Given the description of an element on the screen output the (x, y) to click on. 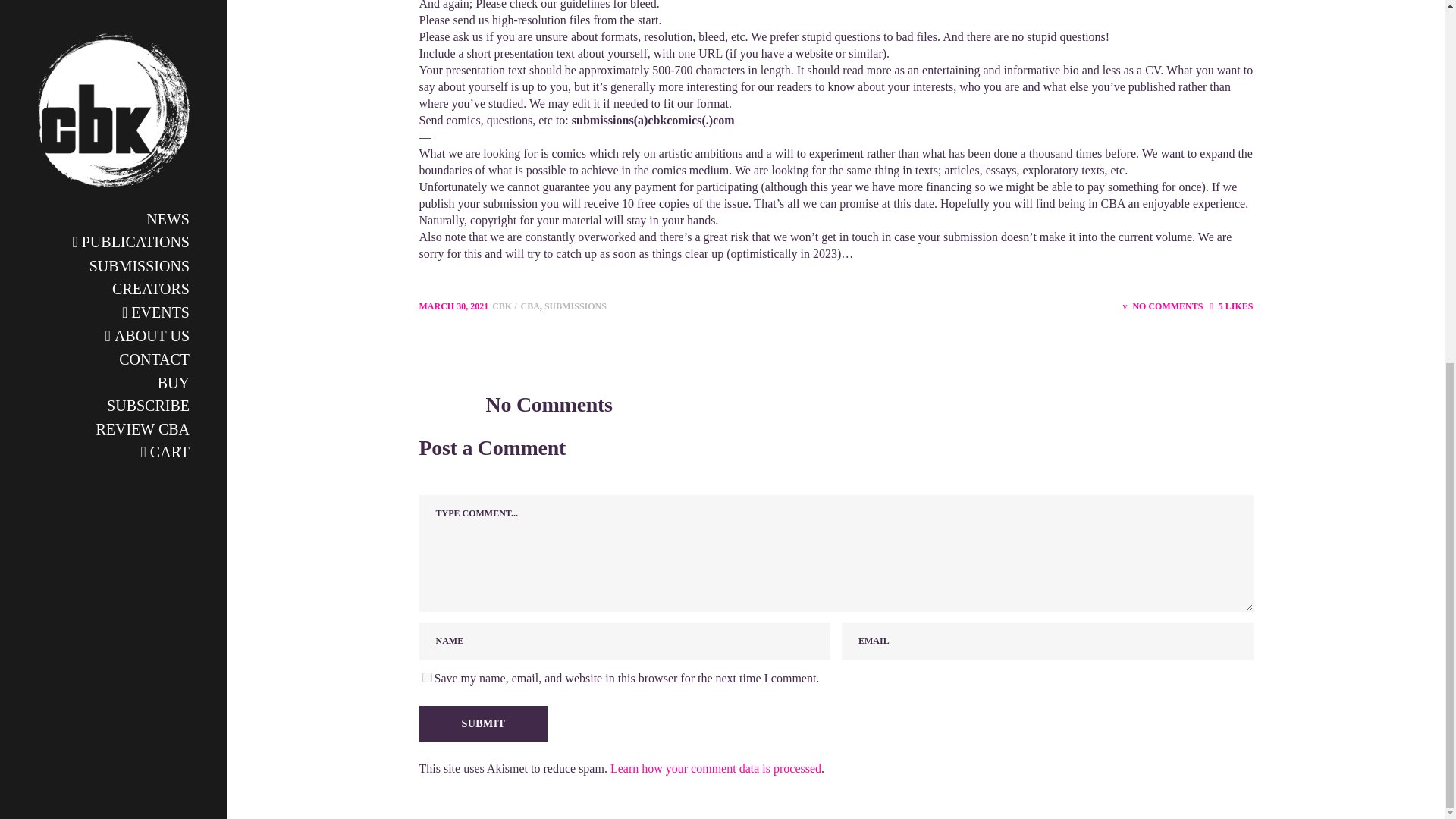
Like this (1230, 306)
yes (426, 677)
Submit (483, 723)
